Given the description of an element on the screen output the (x, y) to click on. 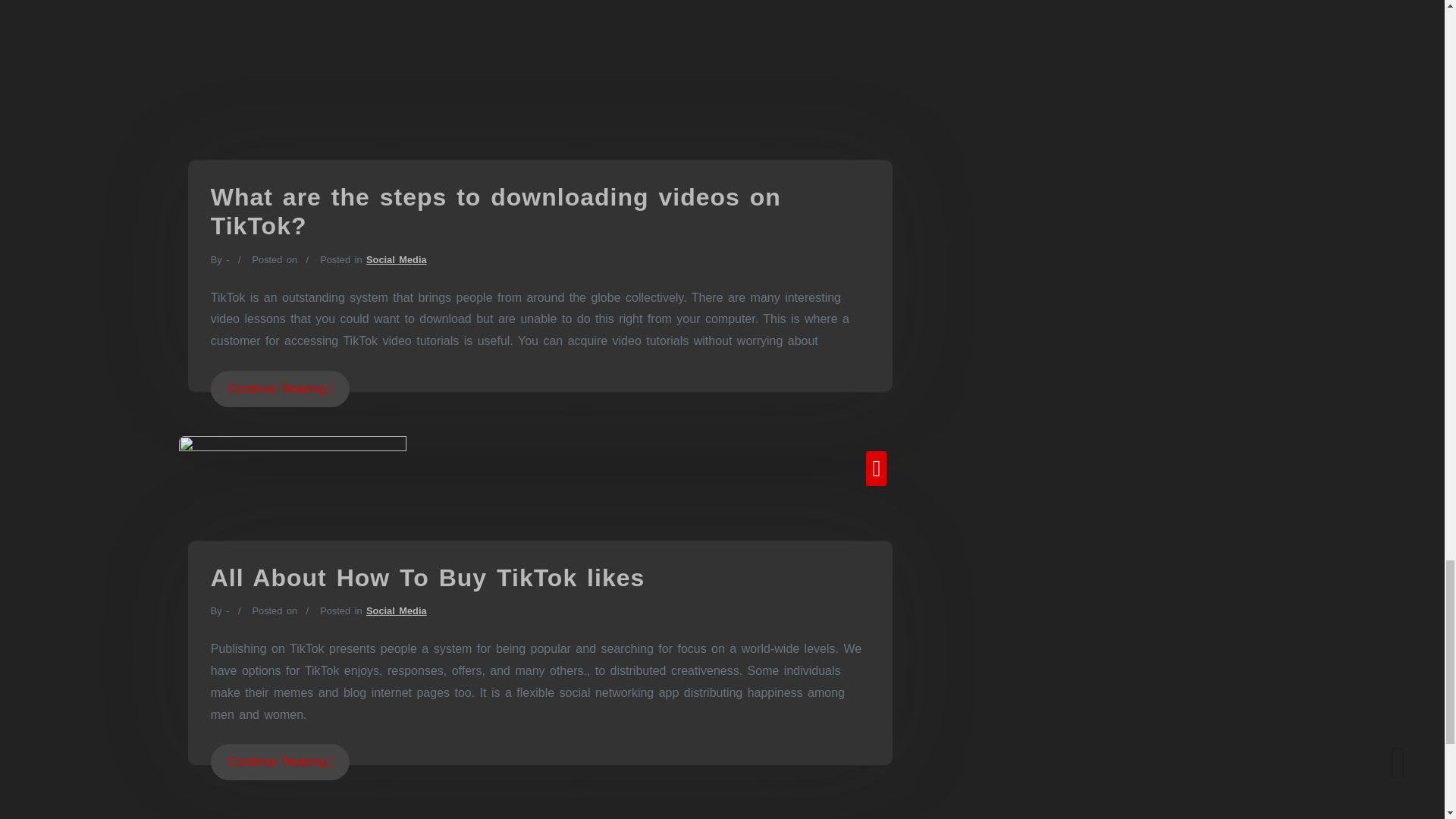
Continue Reading (280, 761)
Social Media (396, 259)
Continue Reading (280, 389)
Social Media (396, 610)
What are the steps to downloading videos on TikTok? (495, 211)
All About How To Buy TikTok likes (428, 577)
